Given the description of an element on the screen output the (x, y) to click on. 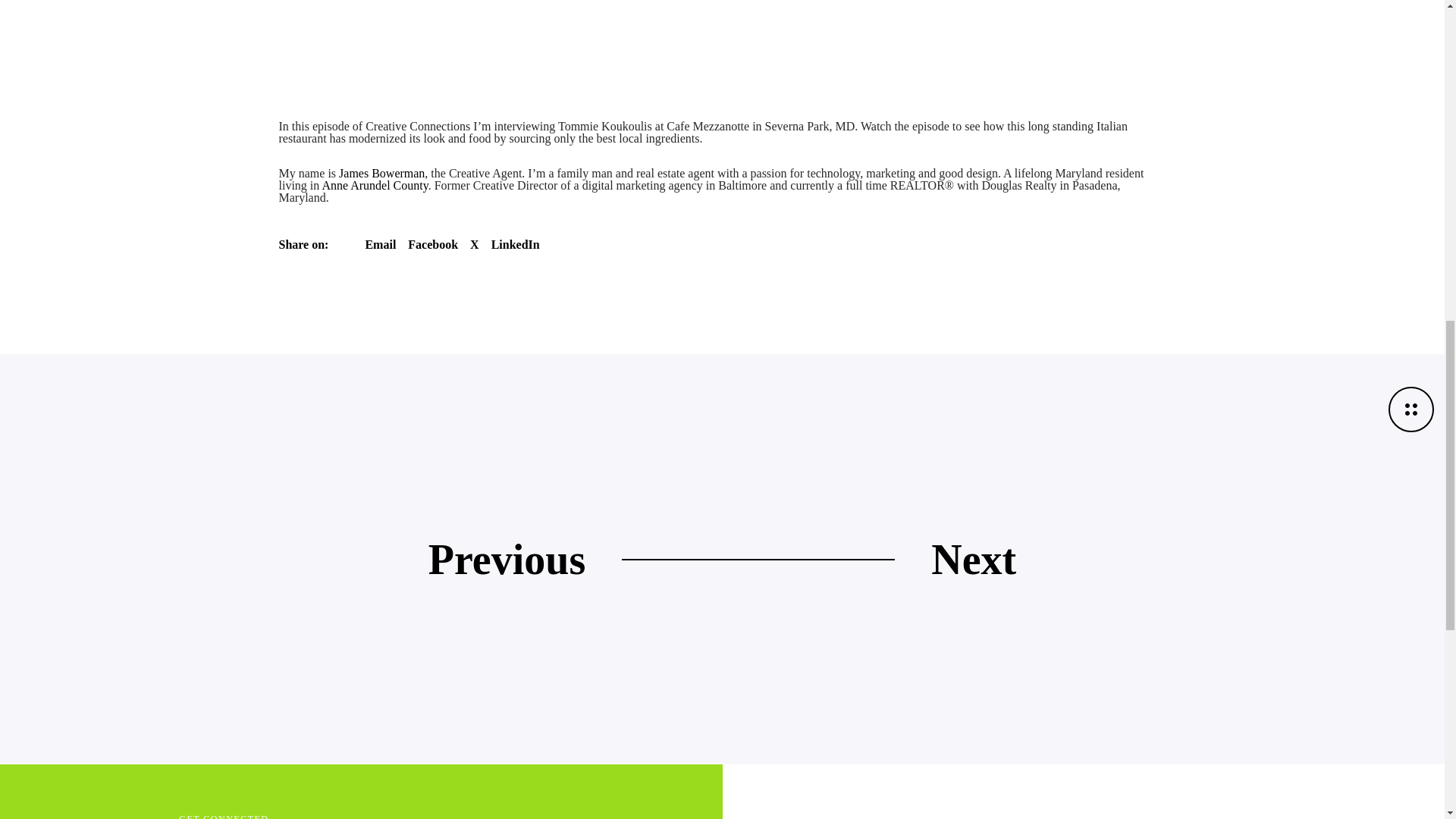
Email (380, 244)
Cafe Mezzanotte with Tommie Koukoulis (380, 244)
Next (973, 558)
Cafe Mezzanotte with Tommie Koukoulis (432, 244)
LinkedIn (516, 244)
James Bowerman (382, 173)
Creative Connections S02E07 Cafe Mezzanotte (688, 26)
Previous (506, 558)
Anne Arundel County (374, 185)
Cafe Mezzanotte with Tommie Koukoulis (516, 244)
Facebook (432, 244)
